Given the description of an element on the screen output the (x, y) to click on. 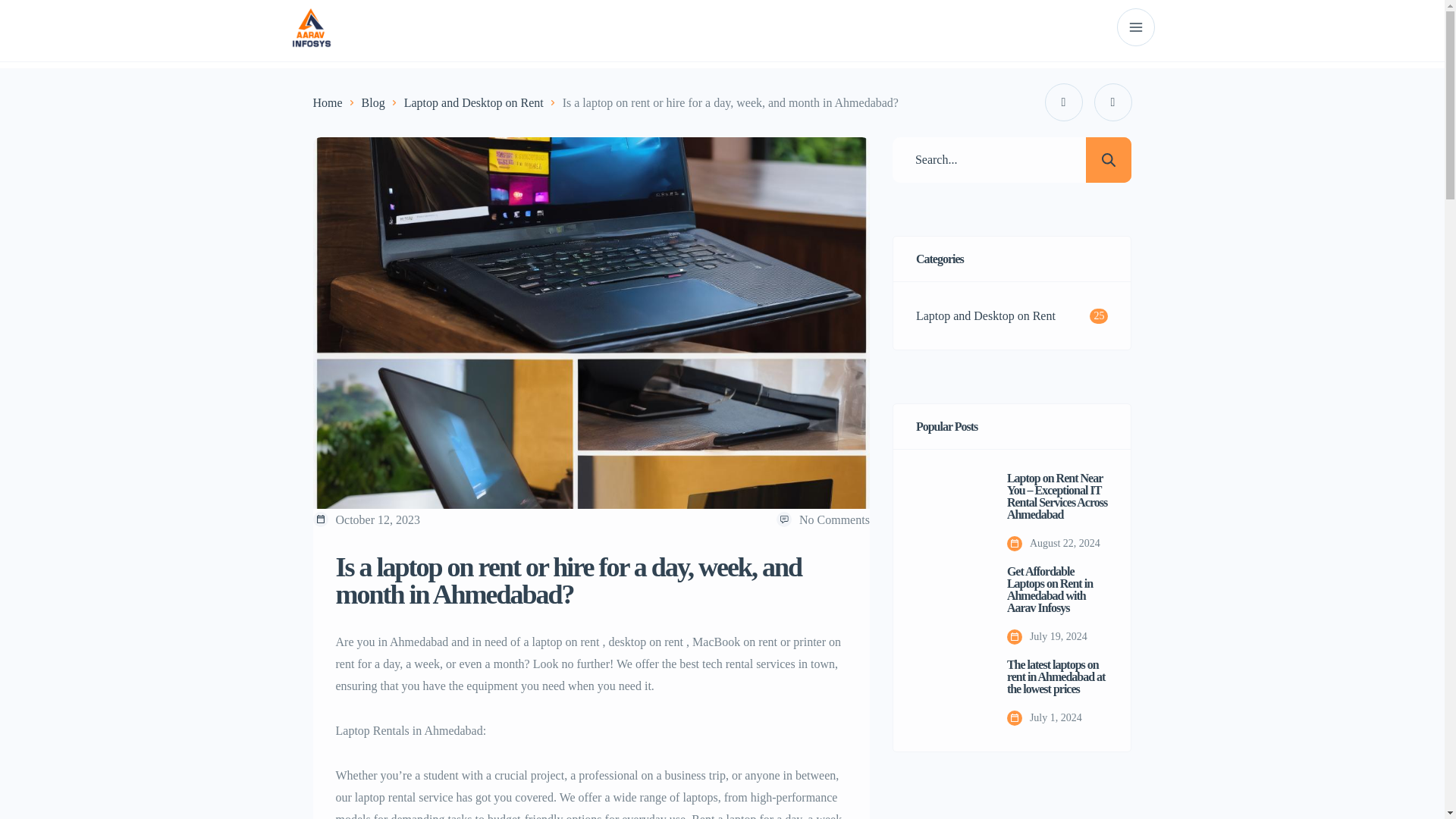
Blog (373, 101)
Home (327, 101)
Aarav Infosys (310, 26)
